Given the description of an element on the screen output the (x, y) to click on. 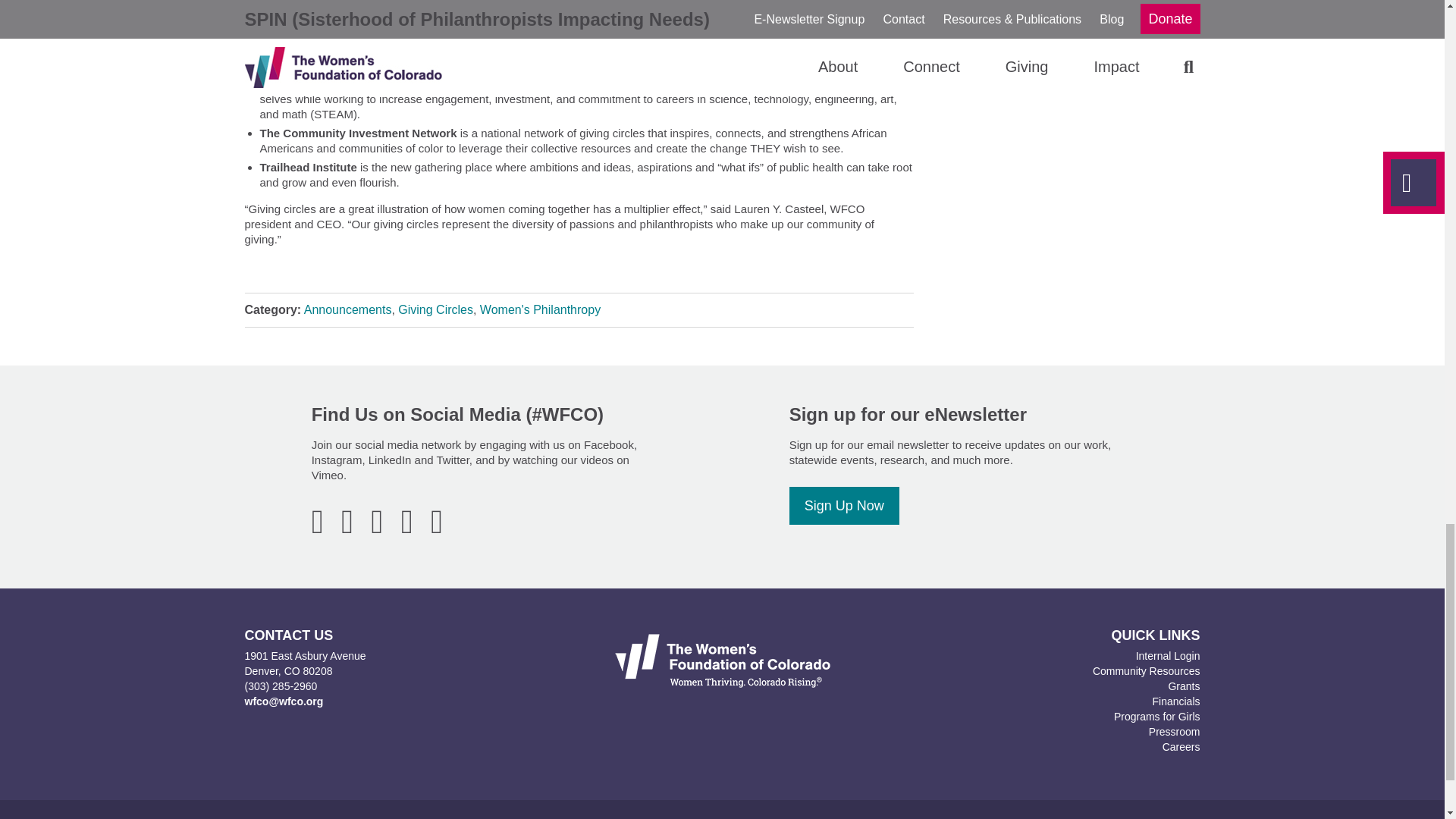
Announcements (347, 309)
Women's Philanthropy (539, 309)
Giving Circles (435, 309)
